Given the description of an element on the screen output the (x, y) to click on. 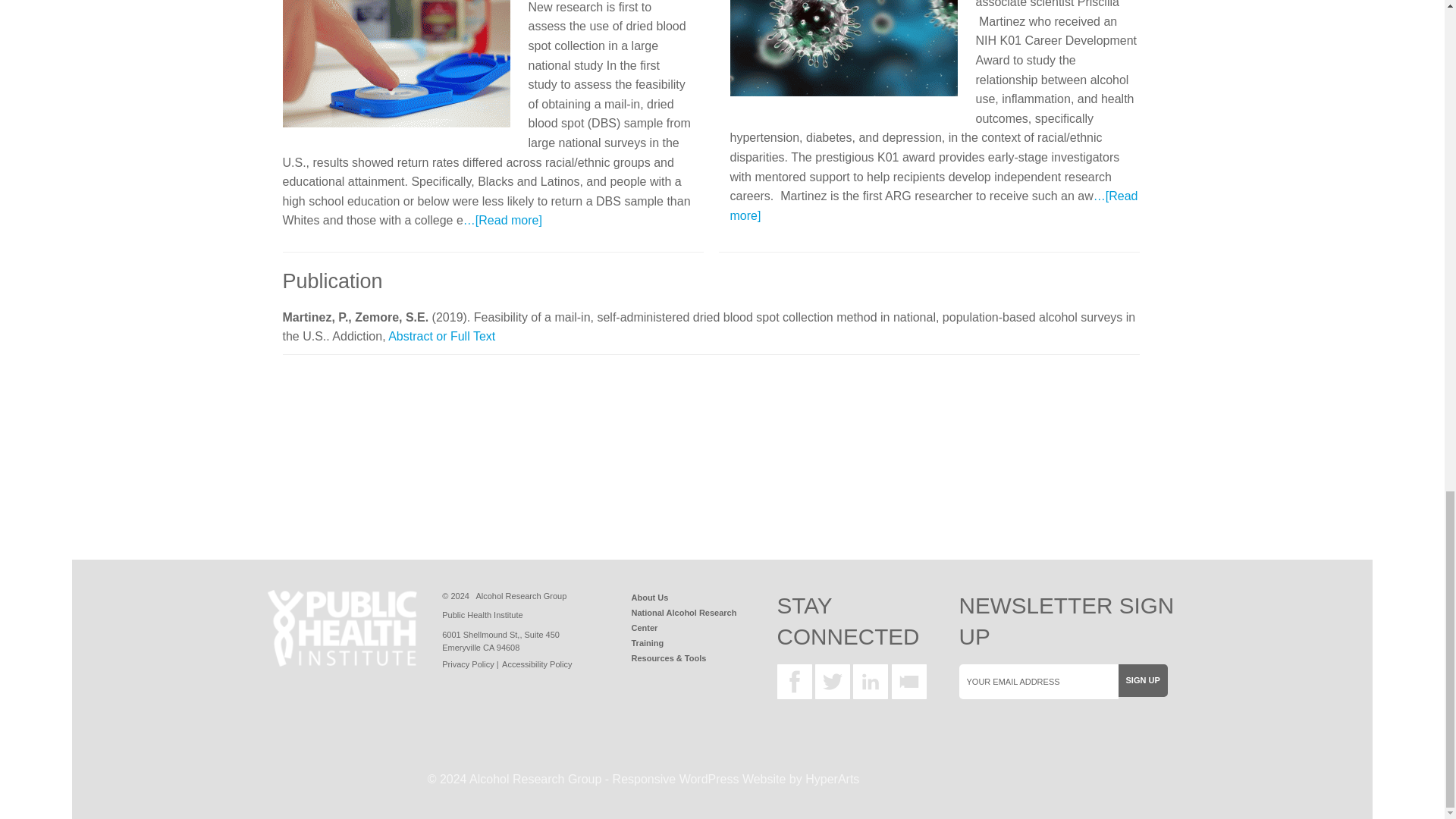
Alcohol Research Group Youtube Page (908, 681)
Public Health Institute (341, 627)
Alcohol Research Group Facebook Page (793, 681)
Alcohol Research Group Twitter Feed Page (832, 681)
Alcohol Research Group Map (500, 640)
Alcohol Research Group Linkedin Profile (870, 681)
Sign up (1142, 680)
